Given the description of an element on the screen output the (x, y) to click on. 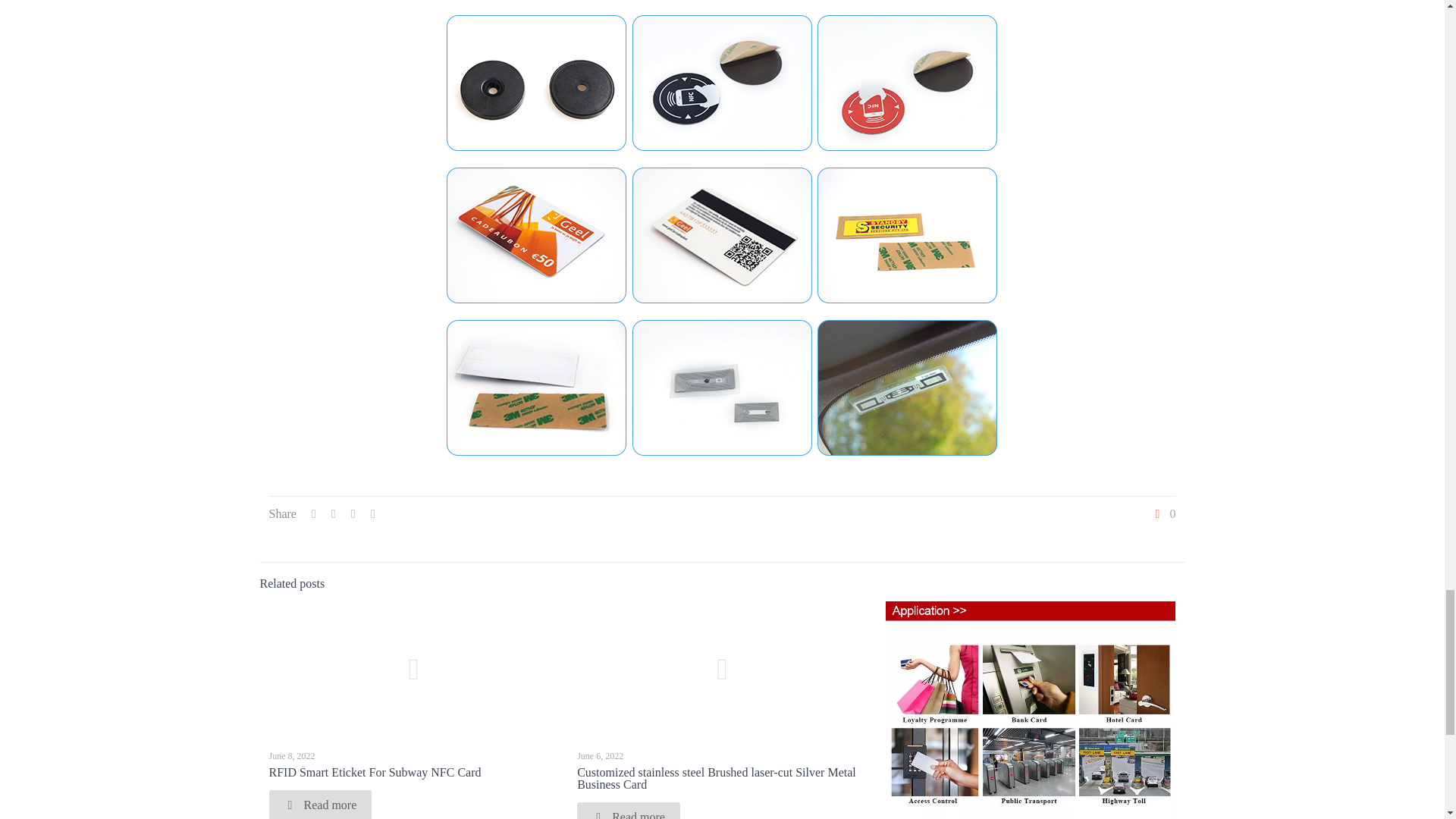
Read more (627, 810)
Read more (319, 804)
0 (1162, 513)
RFID Smart Eticket For Subway NFC Card (373, 771)
